Given the description of an element on the screen output the (x, y) to click on. 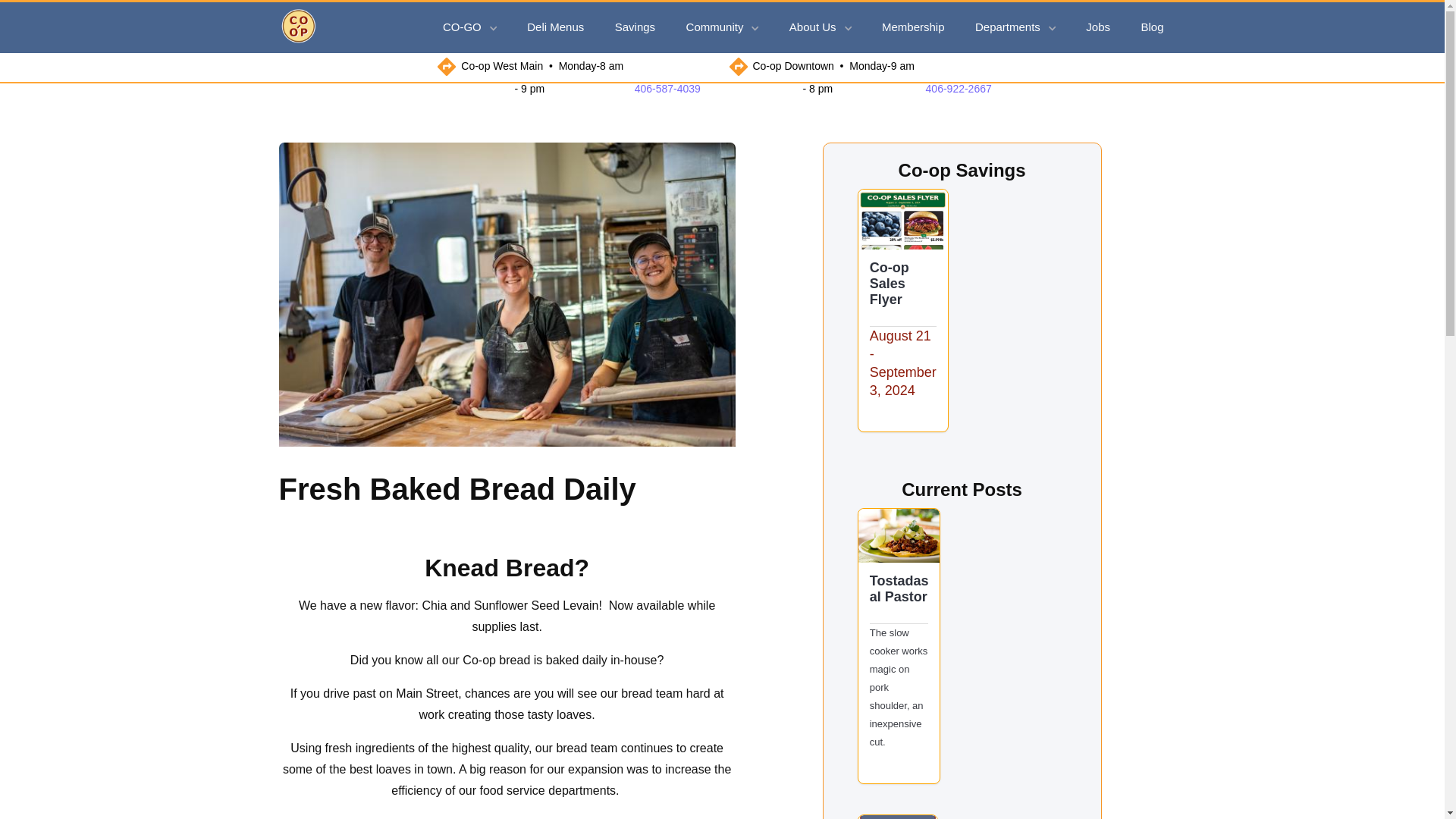
Savings (635, 27)
406-587-4039 (667, 88)
Savings Page (903, 219)
Montana Month (897, 816)
Membership (914, 27)
Click to Call (958, 88)
406-922-2667 (958, 88)
Jobs (1099, 27)
Deli Menus (556, 27)
